Given the description of an element on the screen output the (x, y) to click on. 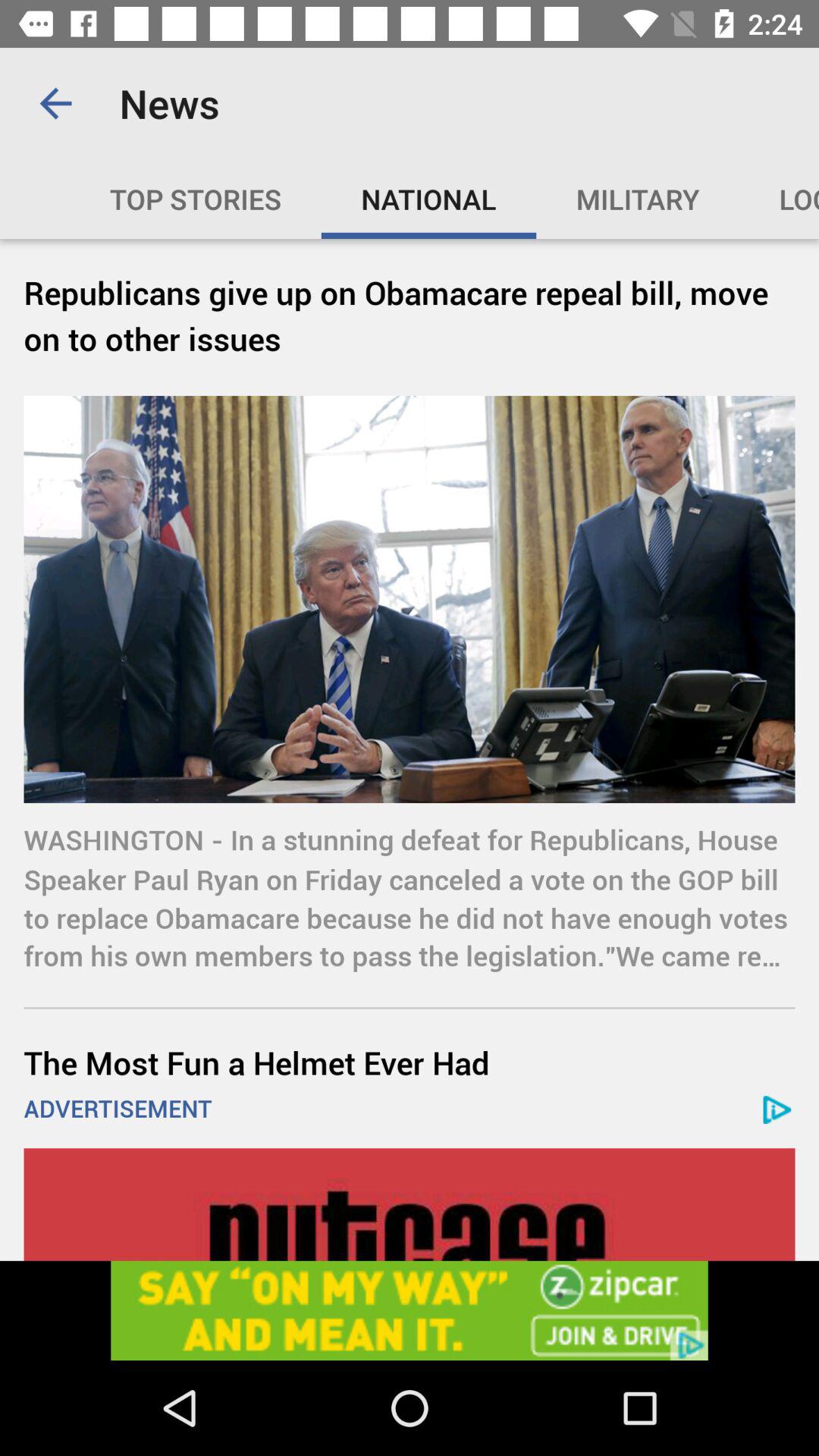
advertisement (409, 1204)
